Given the description of an element on the screen output the (x, y) to click on. 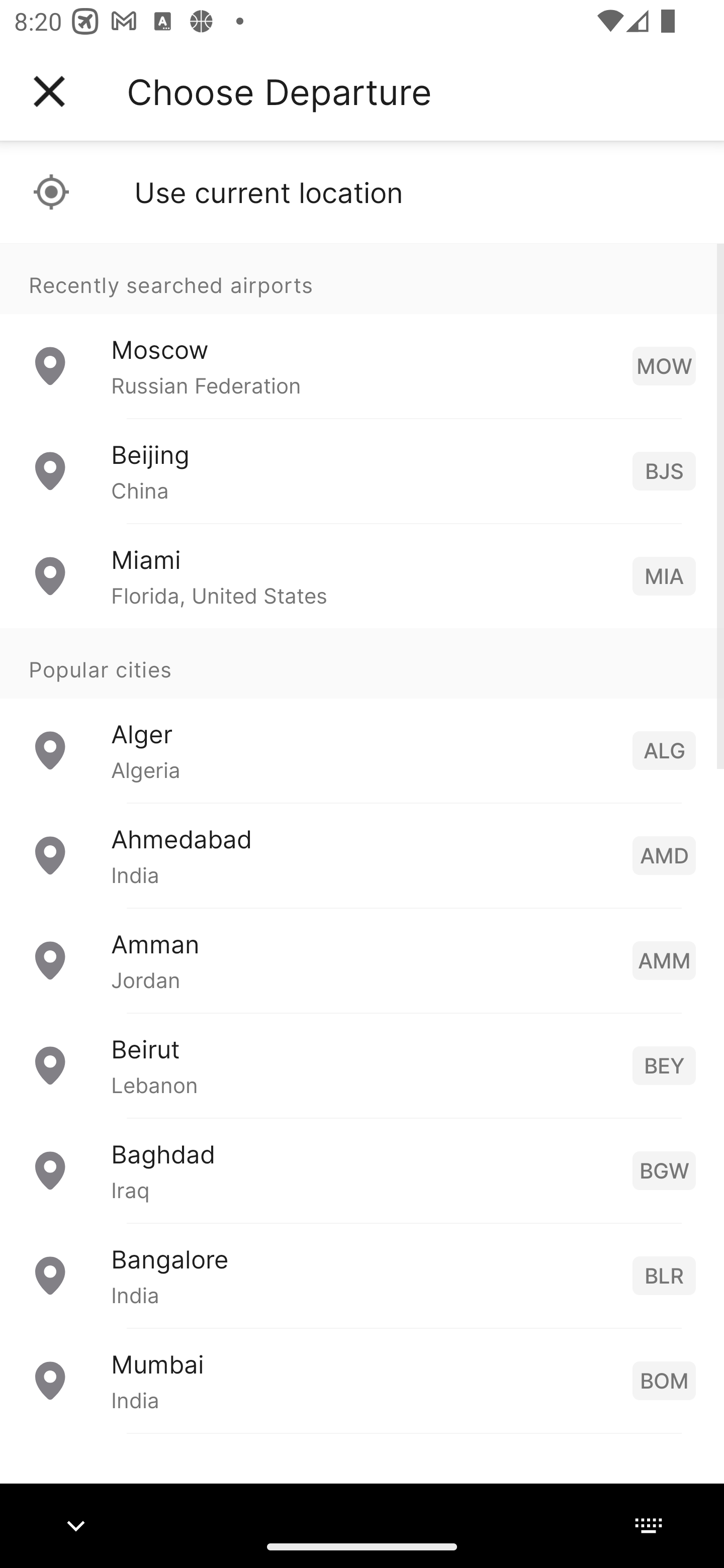
Choose Departure (279, 91)
Use current location (362, 192)
Recently searched airports (362, 278)
Beijing China BJS (362, 470)
Miami Florida, United States MIA (362, 575)
Popular cities Alger Algeria ALG (362, 715)
Popular cities (362, 663)
Ahmedabad India AMD (362, 854)
Amman Jordan AMM (362, 959)
Beirut Lebanon BEY (362, 1064)
Baghdad Iraq BGW (362, 1170)
Bangalore India BLR (362, 1275)
Mumbai India BOM (362, 1380)
